Given the description of an element on the screen output the (x, y) to click on. 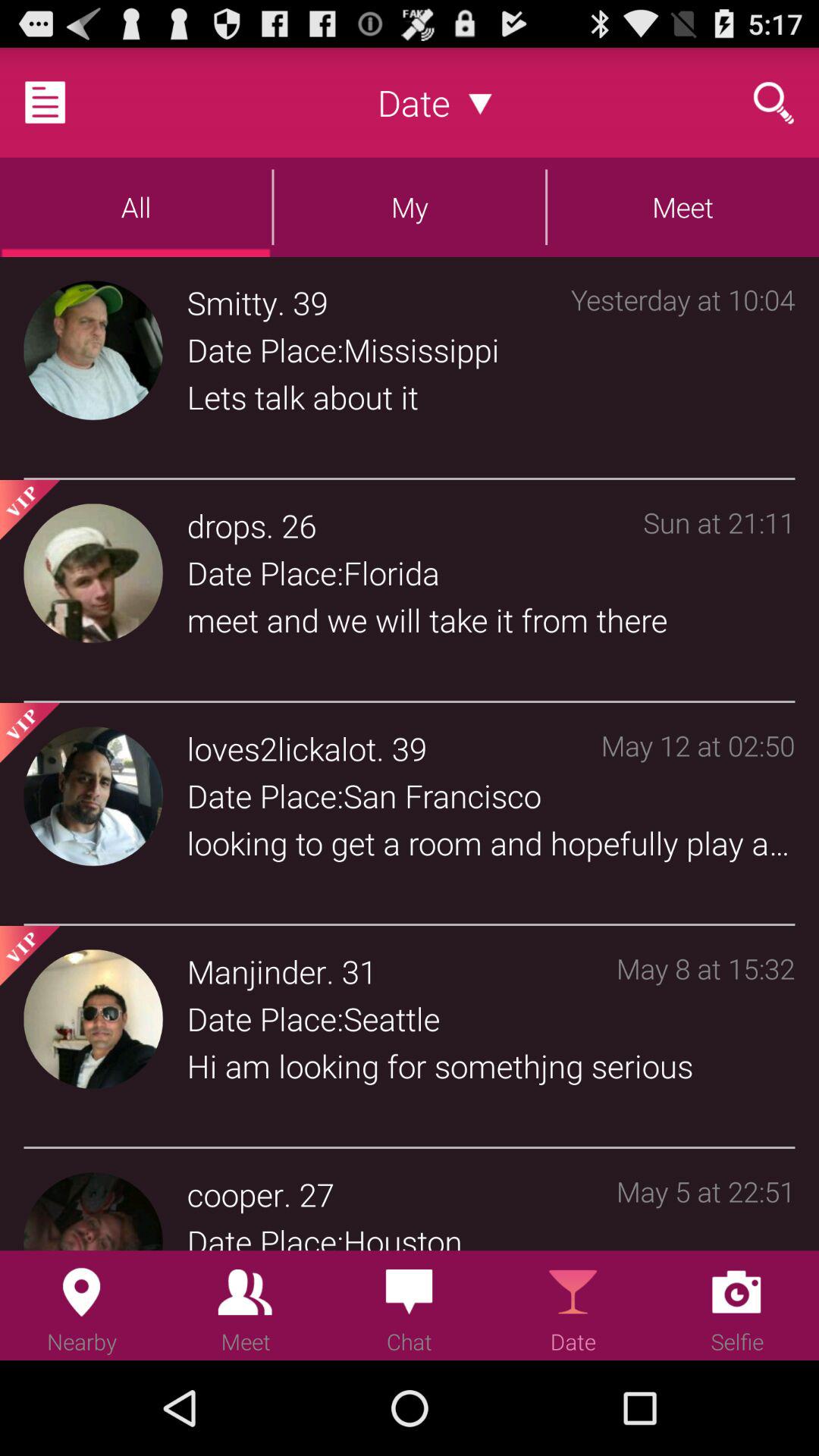
press icon above date place:florida (226, 525)
